Given the description of an element on the screen output the (x, y) to click on. 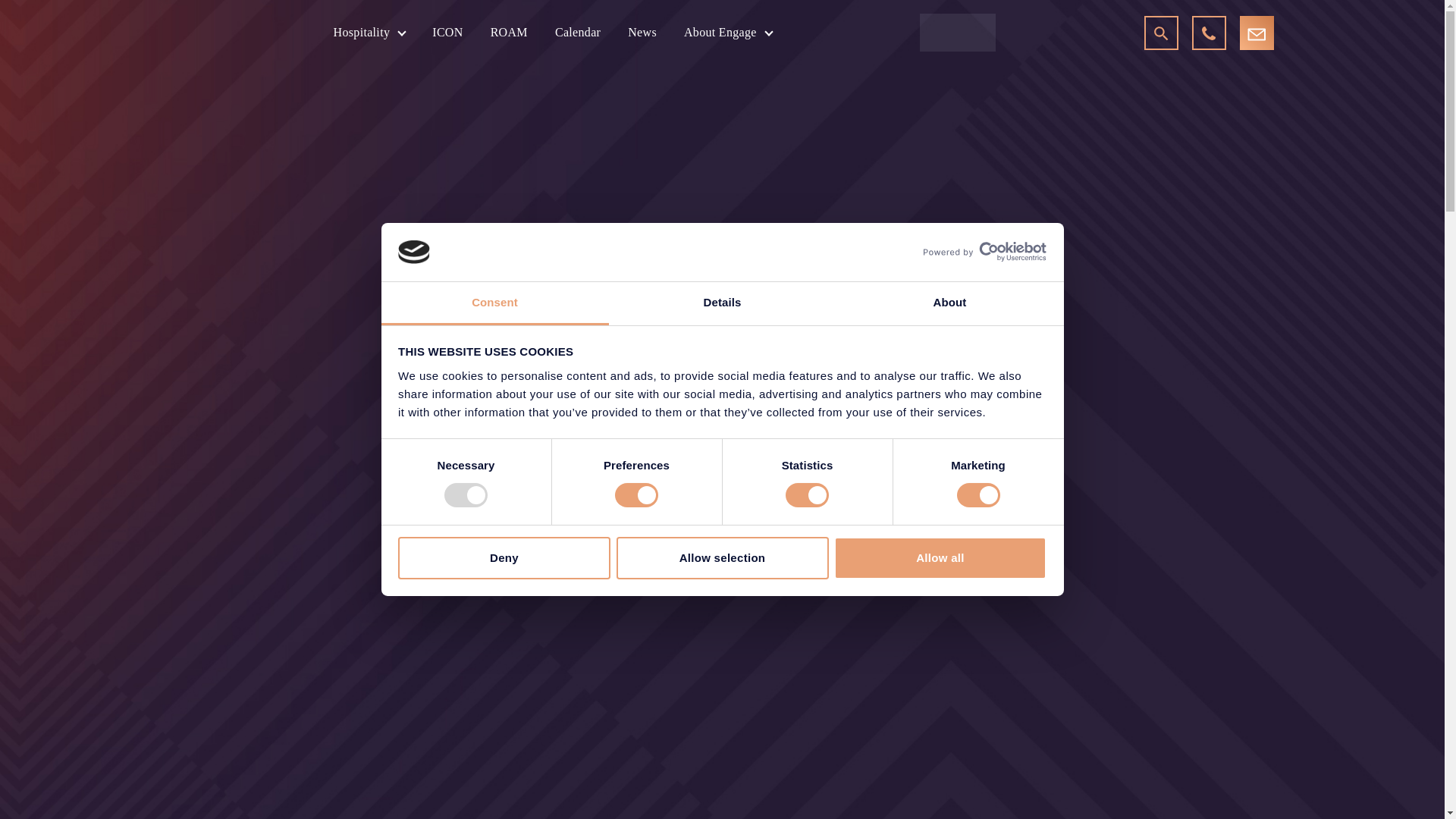
Details (721, 303)
About (948, 303)
Consent (494, 303)
